Given the description of an element on the screen output the (x, y) to click on. 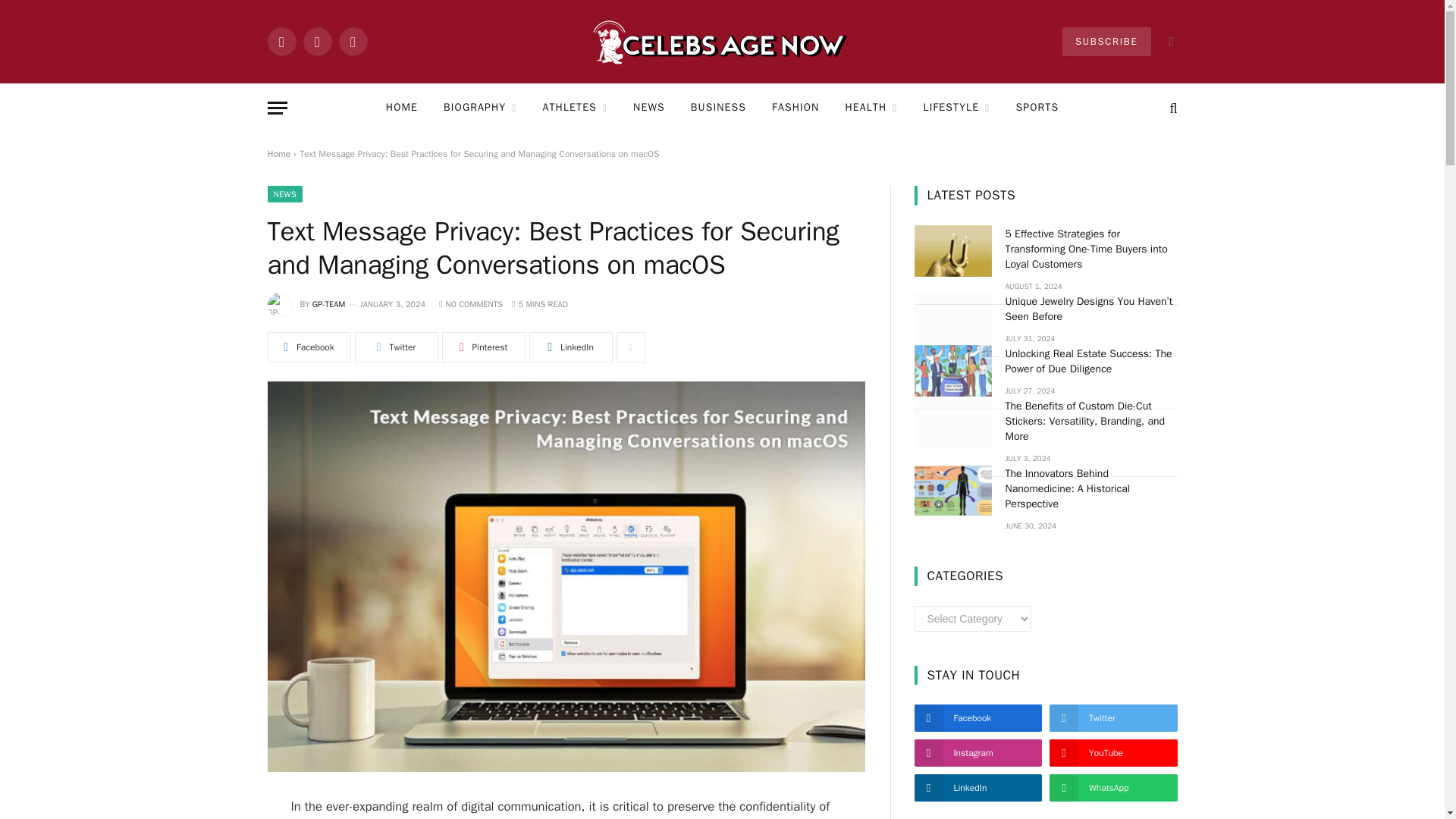
HEALTH (870, 107)
ATHLETES (575, 107)
BIOGRAPHY (479, 107)
BUSINESS (718, 107)
Instagram (351, 41)
SUBSCRIBE (1106, 41)
LIFESTYLE (957, 107)
FASHION (794, 107)
Share on Pinterest (482, 347)
NEWS (649, 107)
Share on Facebook (308, 347)
Switch to Dark Design - easier on eyes. (1168, 41)
Facebook (280, 41)
HOME (401, 107)
Posts by GP-Team (329, 303)
